Given the description of an element on the screen output the (x, y) to click on. 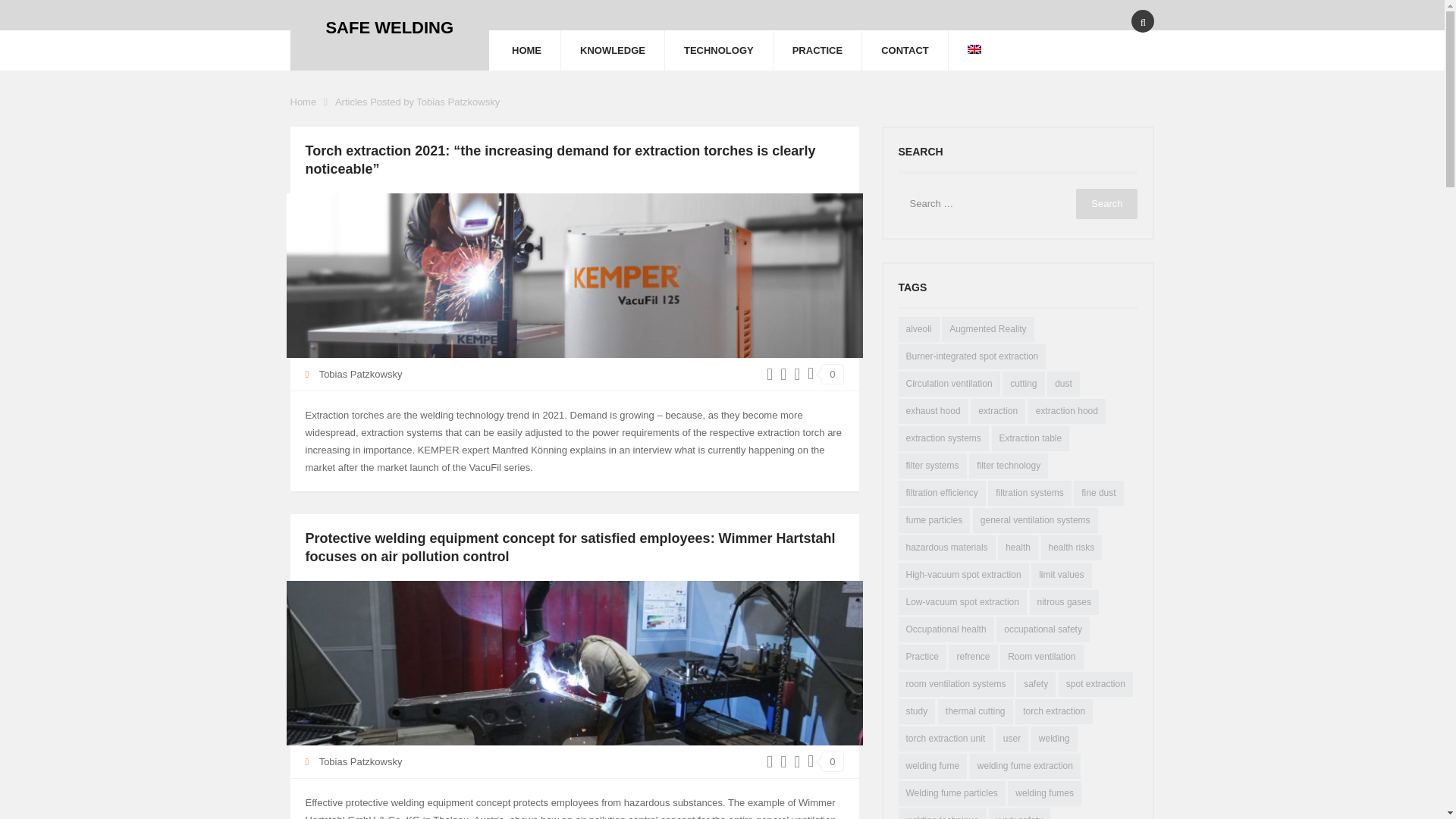
CONTACT (904, 50)
HOME (526, 50)
Search (1106, 204)
KNOWLEDGE (611, 50)
TECHNOLOGY (719, 50)
Search (1106, 204)
Comment this post (832, 761)
Tobias Patzkowsky (360, 374)
SAFE WELDING (389, 27)
